Given the description of an element on the screen output the (x, y) to click on. 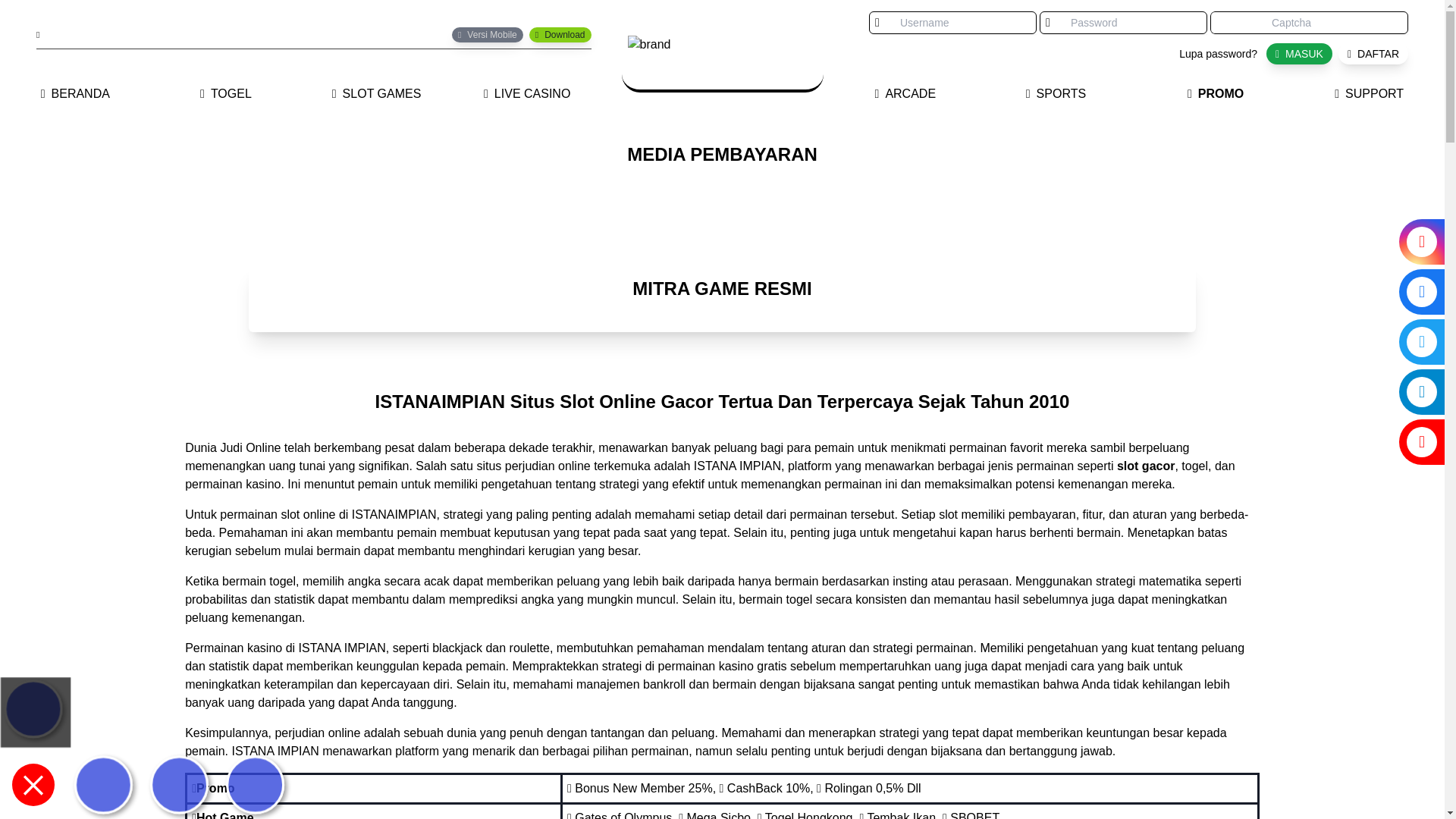
Download (560, 34)
DAFTAR (1372, 53)
TOGEL (226, 94)
ARCADE (904, 94)
SLOT GAMES (376, 94)
MASUK (1299, 53)
slot gacor (1145, 465)
PROMO (1215, 93)
SPORTS (1055, 94)
BERANDA (75, 94)
